Given the description of an element on the screen output the (x, y) to click on. 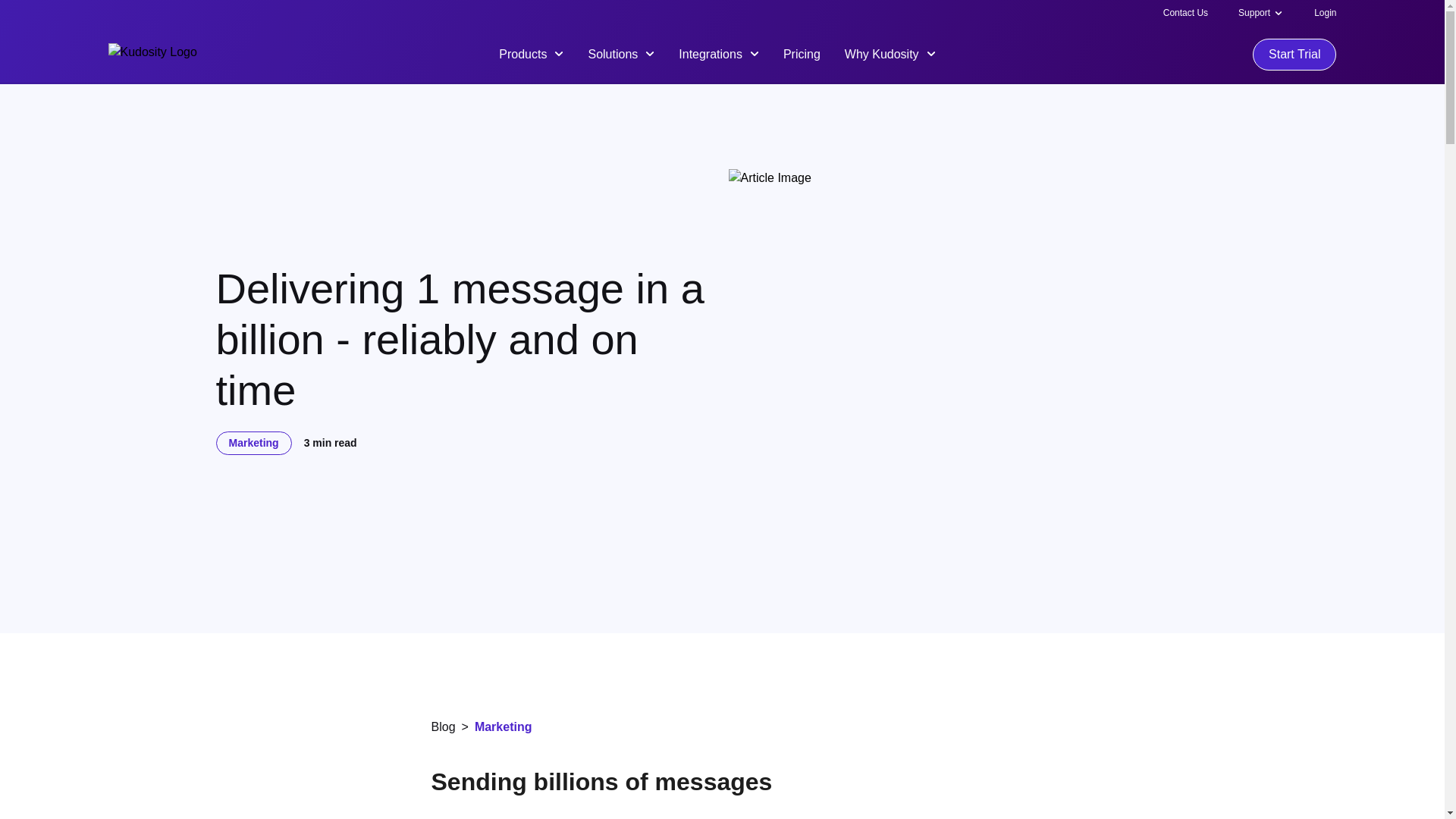
Login (1325, 12)
Kudosity (151, 54)
Products (531, 54)
Solutions (620, 54)
Contact Us (1185, 12)
Support (1254, 12)
